Given the description of an element on the screen output the (x, y) to click on. 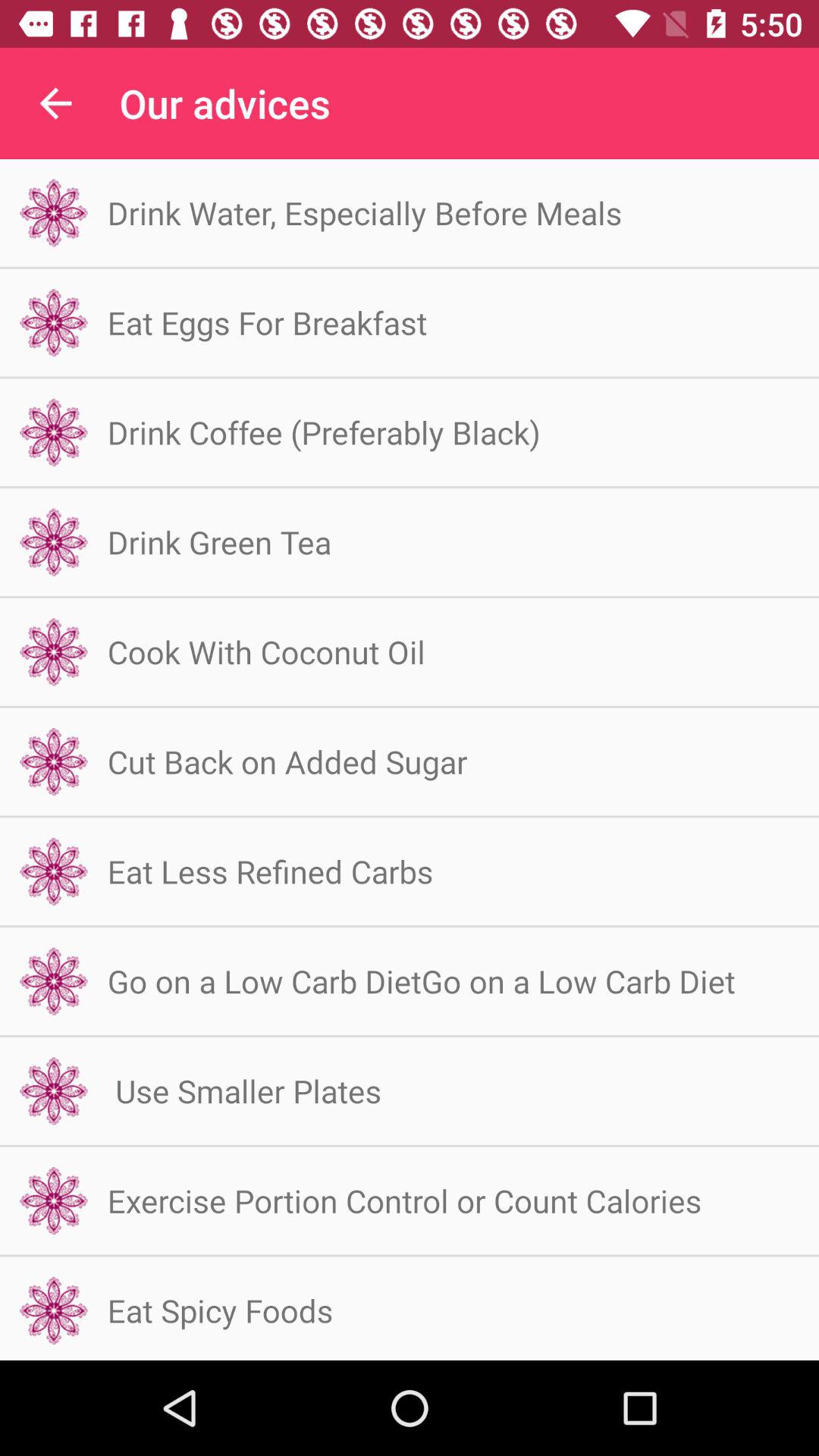
tap the drink coffee preferably item (323, 431)
